Given the description of an element on the screen output the (x, y) to click on. 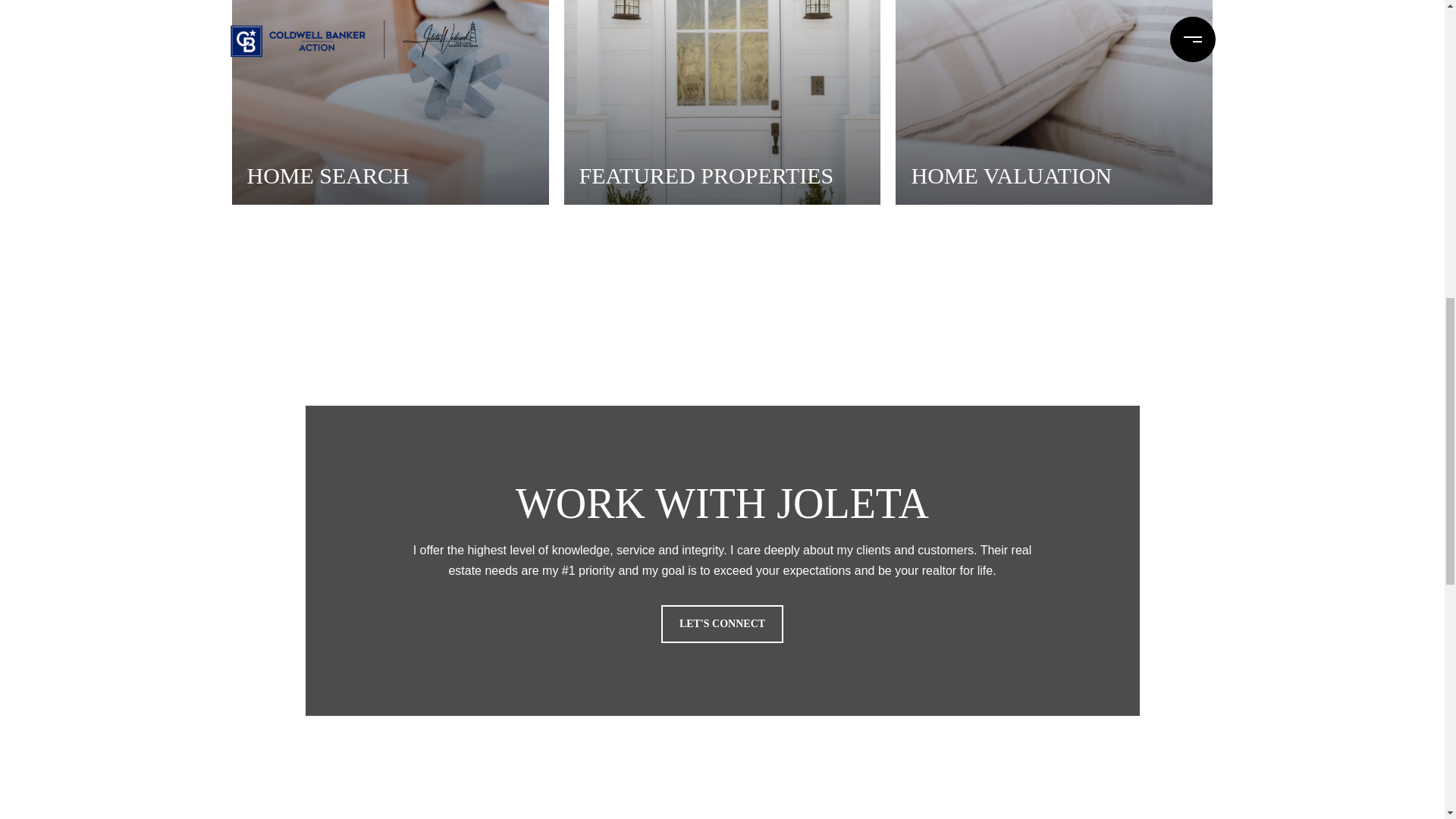
LET'S CONNECT (722, 623)
HOME SEARCH (389, 102)
HOME VALUATION (1053, 102)
FEATURED PROPERTIES (722, 102)
